Given the description of an element on the screen output the (x, y) to click on. 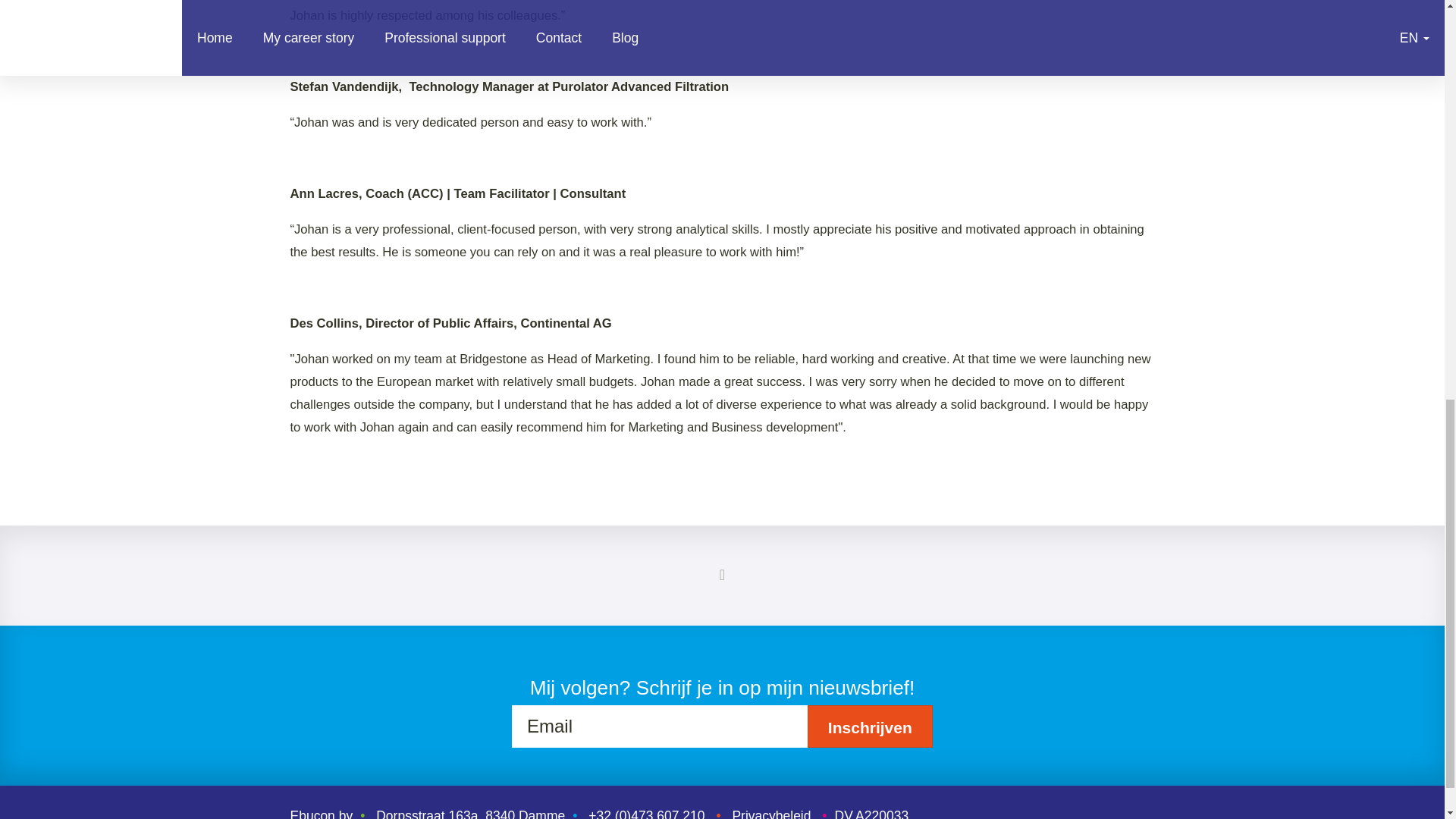
Inschrijven (870, 726)
Privacybeleid (771, 813)
blog (721, 574)
